Given the description of an element on the screen output the (x, y) to click on. 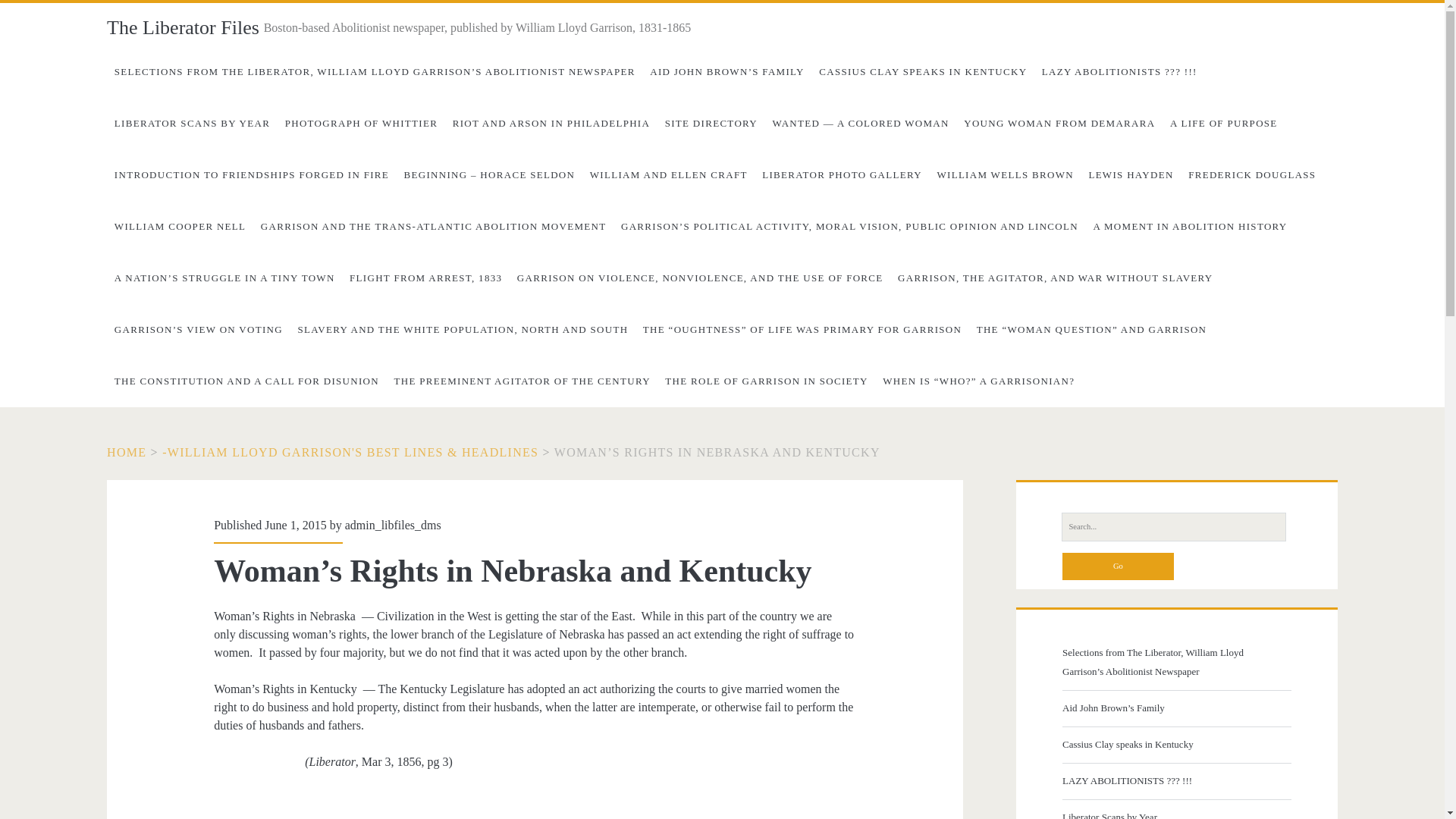
WILLIAM COOPER NELL (179, 226)
GARRISON ON VIOLENCE, NONVIOLENCE, AND THE USE OF FORCE (699, 277)
LIBERATOR PHOTO GALLERY (841, 174)
YOUNG WOMAN FROM DEMARARA (1058, 123)
FREDERICK DOUGLASS (1251, 174)
LEWIS HAYDEN (1130, 174)
WILLIAM WELLS BROWN (1005, 174)
LIBERATOR SCANS BY YEAR (192, 123)
LAZY ABOLITIONISTS ??? !!! (1118, 71)
The Liberator Files (182, 27)
